Given the description of an element on the screen output the (x, y) to click on. 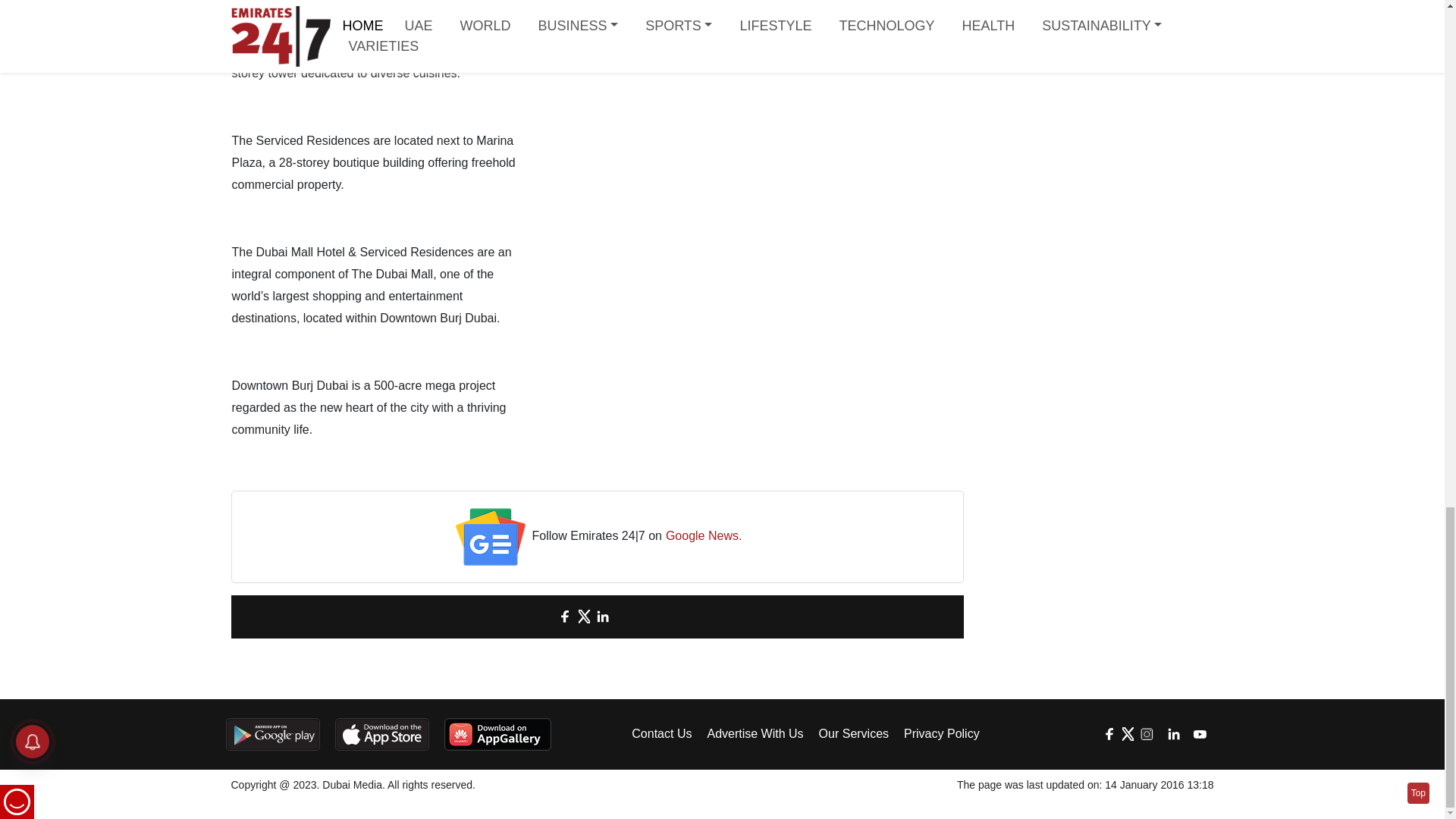
Google News. (703, 536)
